Given the description of an element on the screen output the (x, y) to click on. 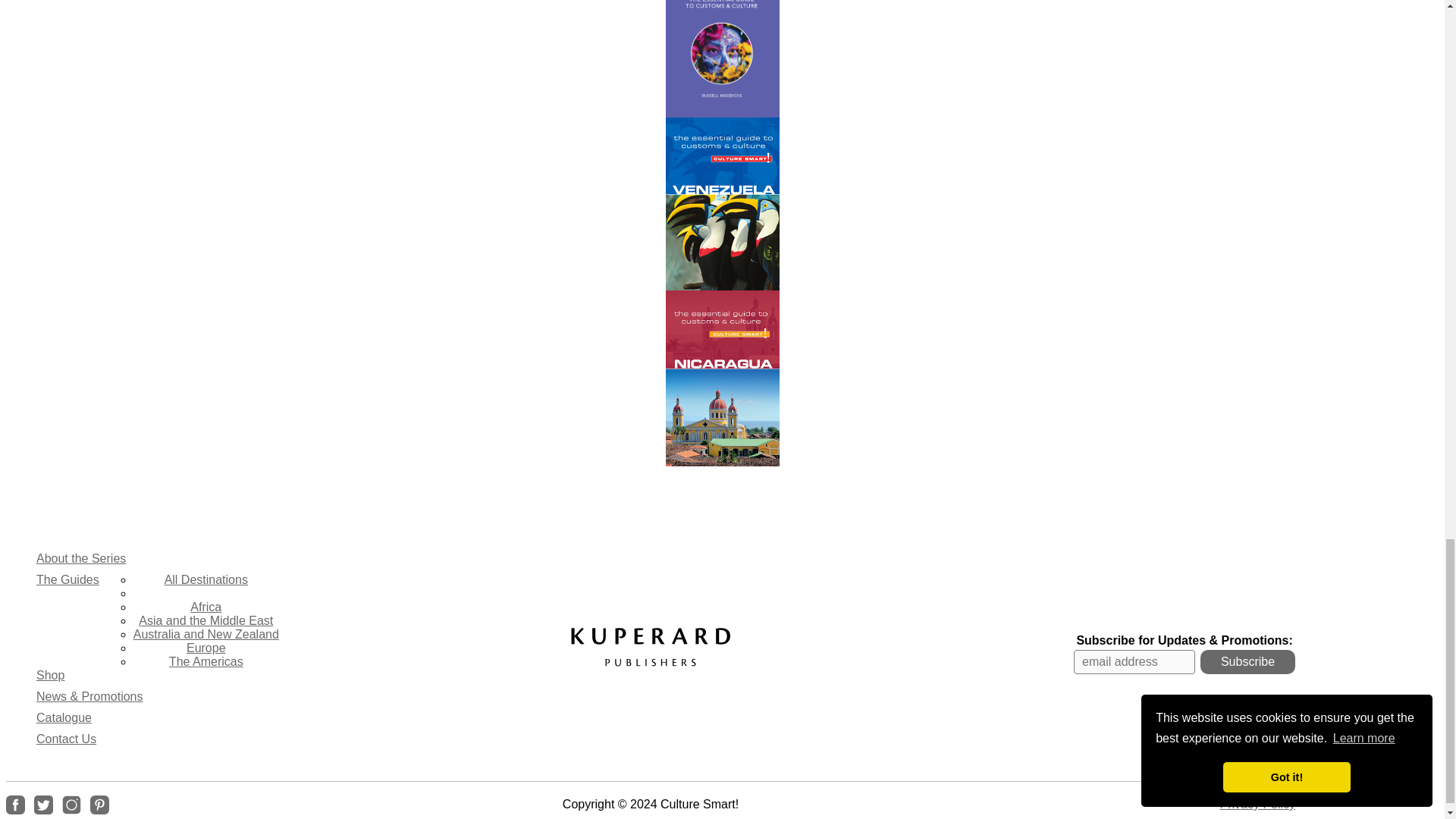
About the Series (80, 558)
Asia and the Middle East (205, 620)
Subscribe (1247, 662)
The Americas (205, 661)
follow us on facebook (14, 804)
follow us on twitter (42, 804)
Australia and New Zealand (206, 634)
follow us on instagram (71, 804)
Africa (205, 606)
follow us on pininterest (99, 804)
Europe (205, 647)
All Destinations (205, 579)
